Given the description of an element on the screen output the (x, y) to click on. 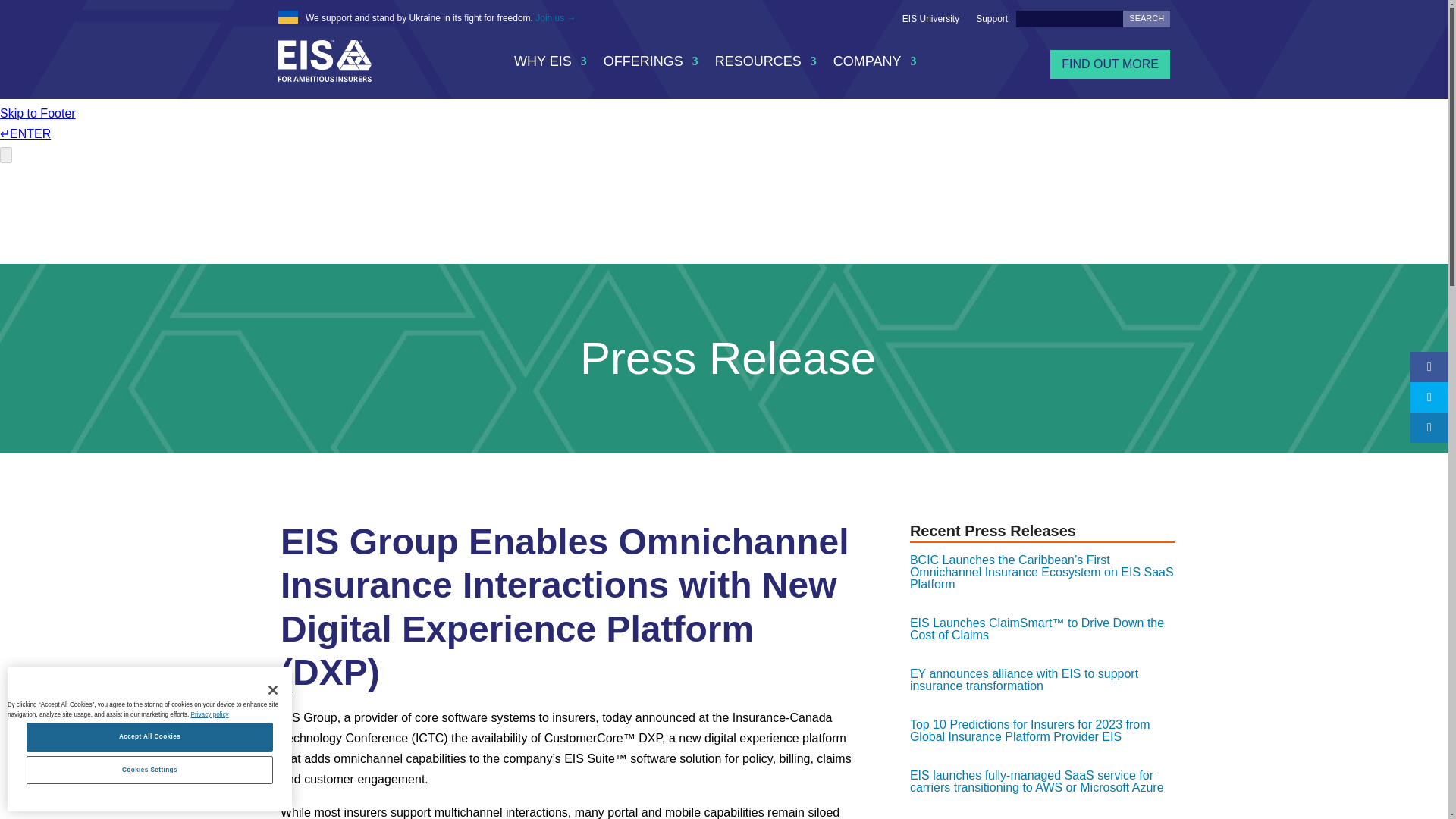
Search (1146, 18)
Search (1146, 18)
